Given the description of an element on the screen output the (x, y) to click on. 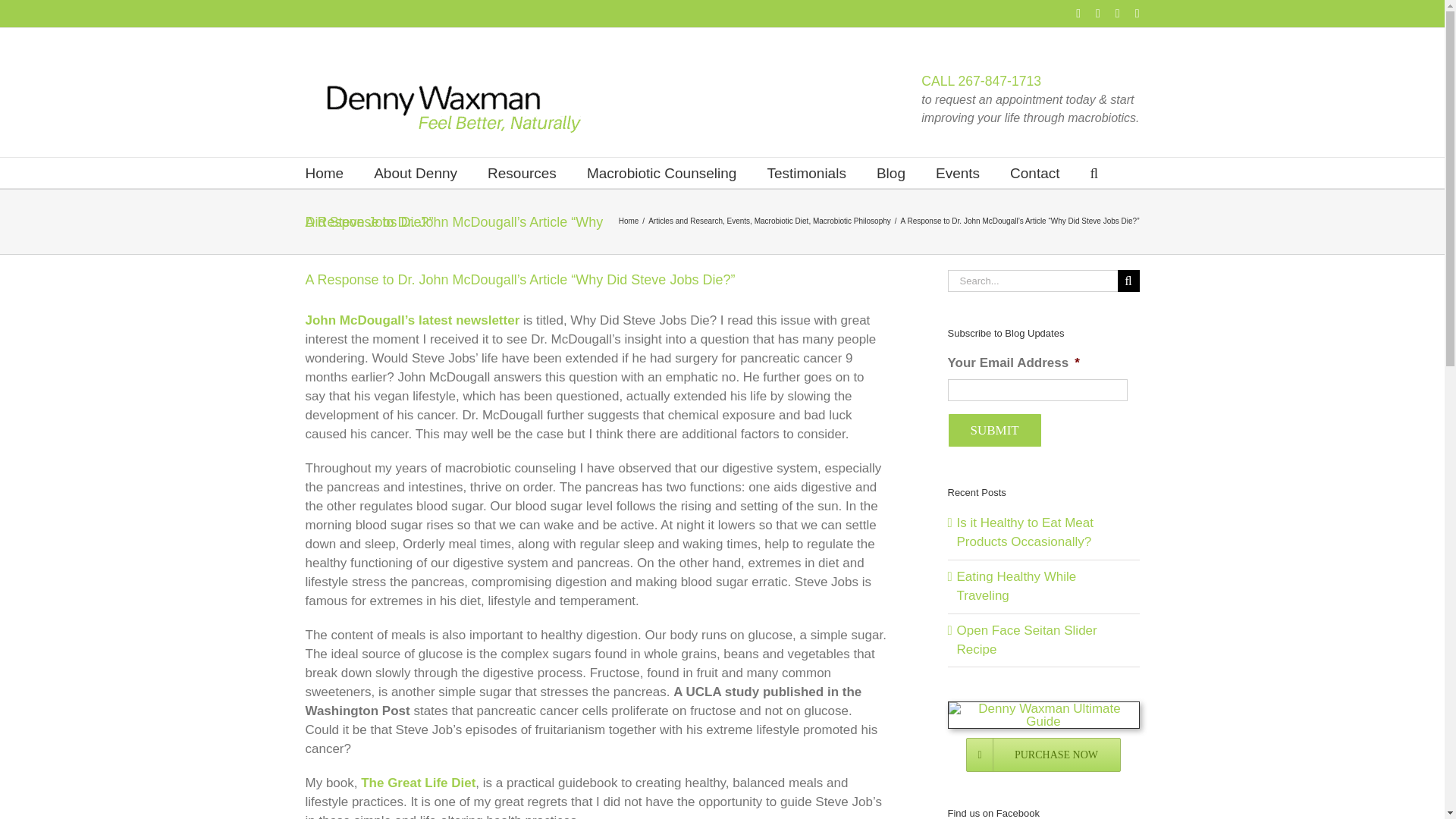
Blog (890, 173)
Articles and Research (684, 221)
Events (957, 173)
The Great Life Diet (418, 782)
Submit (994, 430)
Macrobiotic Philosophy (851, 221)
Home (628, 221)
Events (738, 221)
Testimonials (806, 173)
Macrobiotic Diet (781, 221)
